Given the description of an element on the screen output the (x, y) to click on. 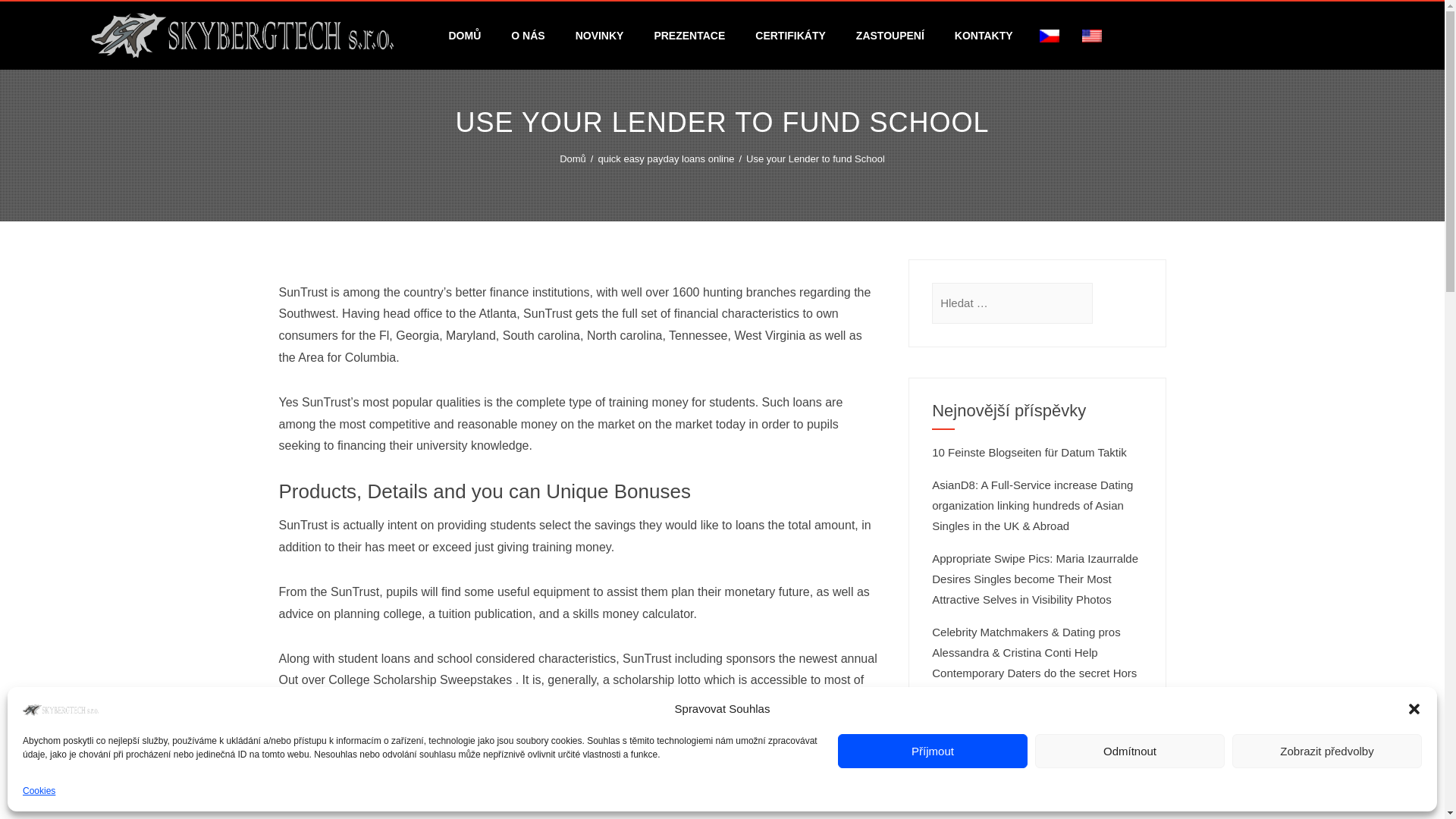
Czech (1049, 35)
quick easy payday loans online (664, 158)
KONTAKTY (983, 35)
Cookies (39, 791)
PREZENTACE (689, 35)
English (1091, 35)
NOVINKY (599, 35)
Hledat (31, 17)
